Given the description of an element on the screen output the (x, y) to click on. 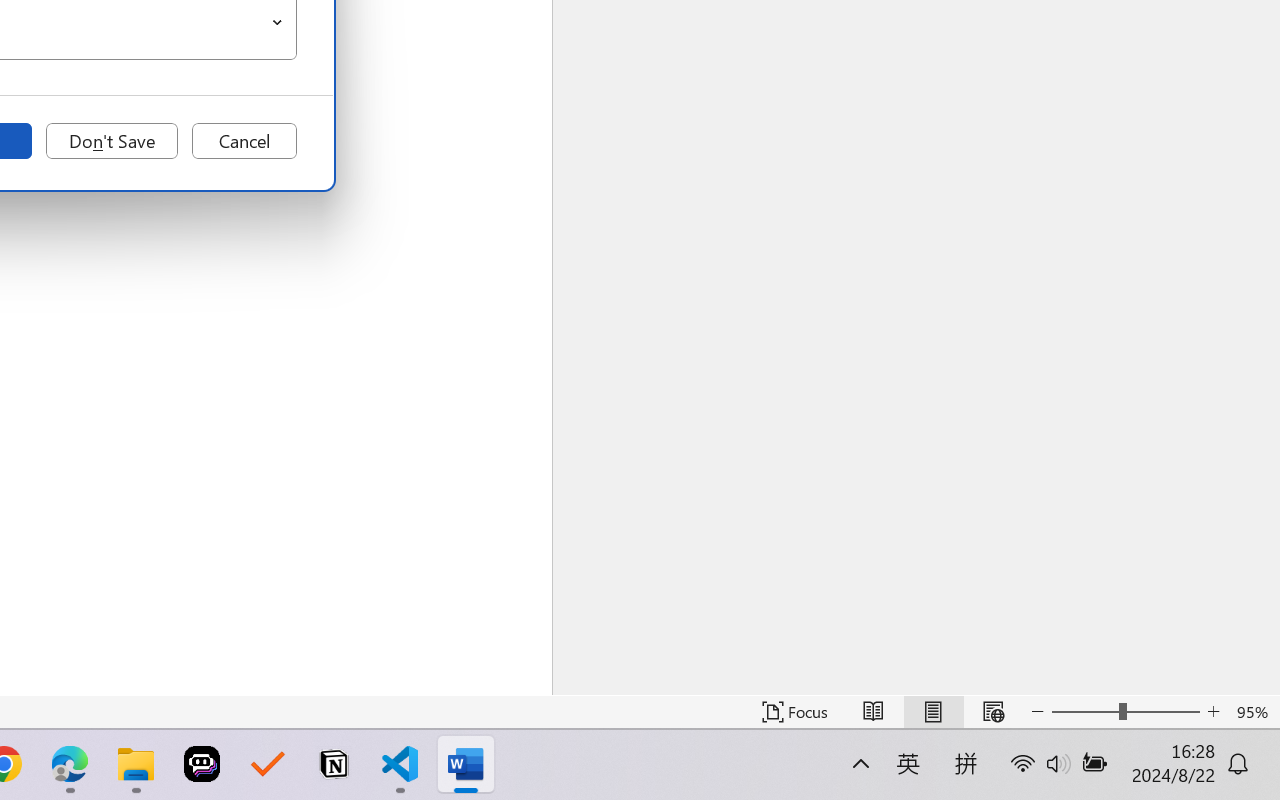
Don't Save (111, 141)
Poe (201, 764)
